Given the description of an element on the screen output the (x, y) to click on. 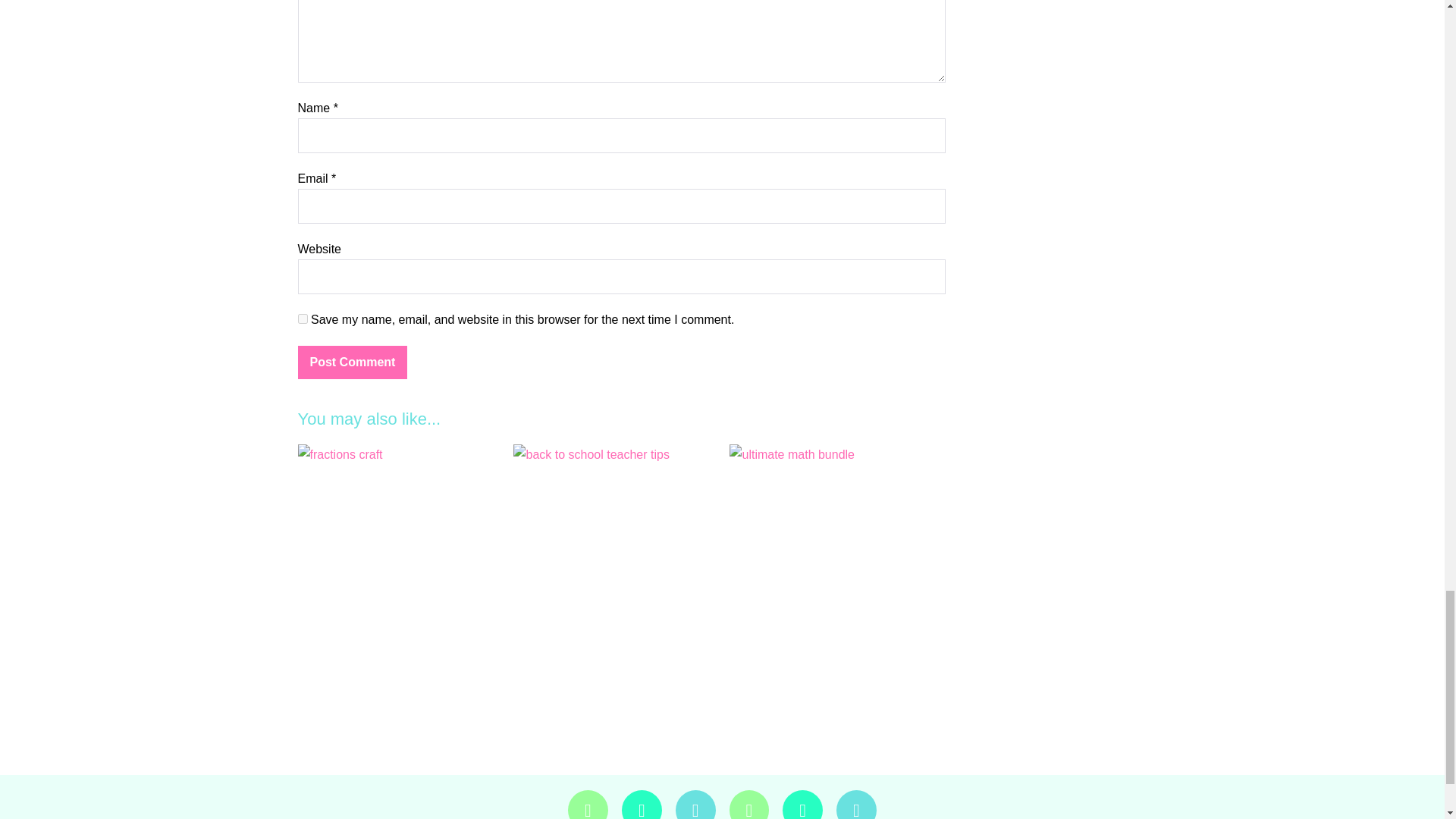
Post Comment (352, 362)
Post Comment (352, 362)
yes (302, 318)
